Given the description of an element on the screen output the (x, y) to click on. 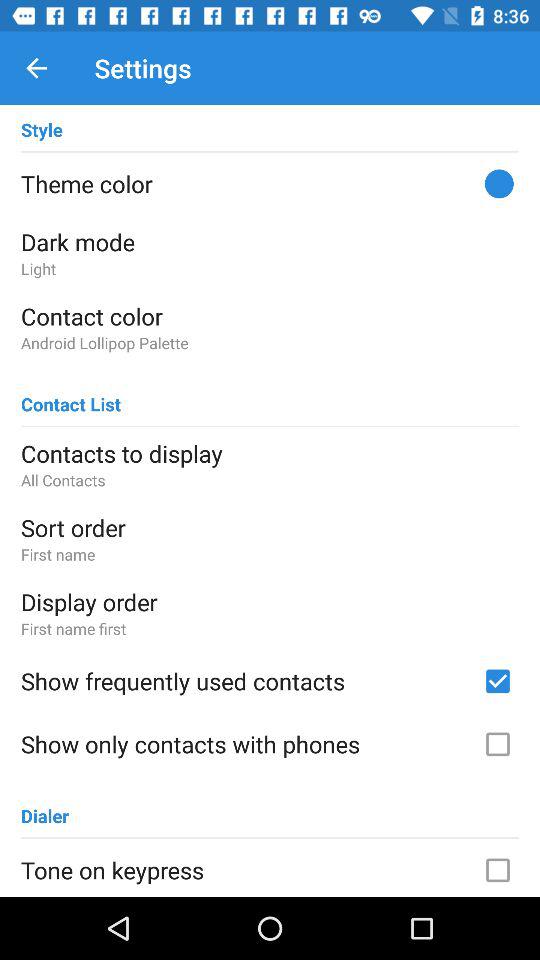
click the item below the show only contacts icon (45, 806)
